Given the description of an element on the screen output the (x, y) to click on. 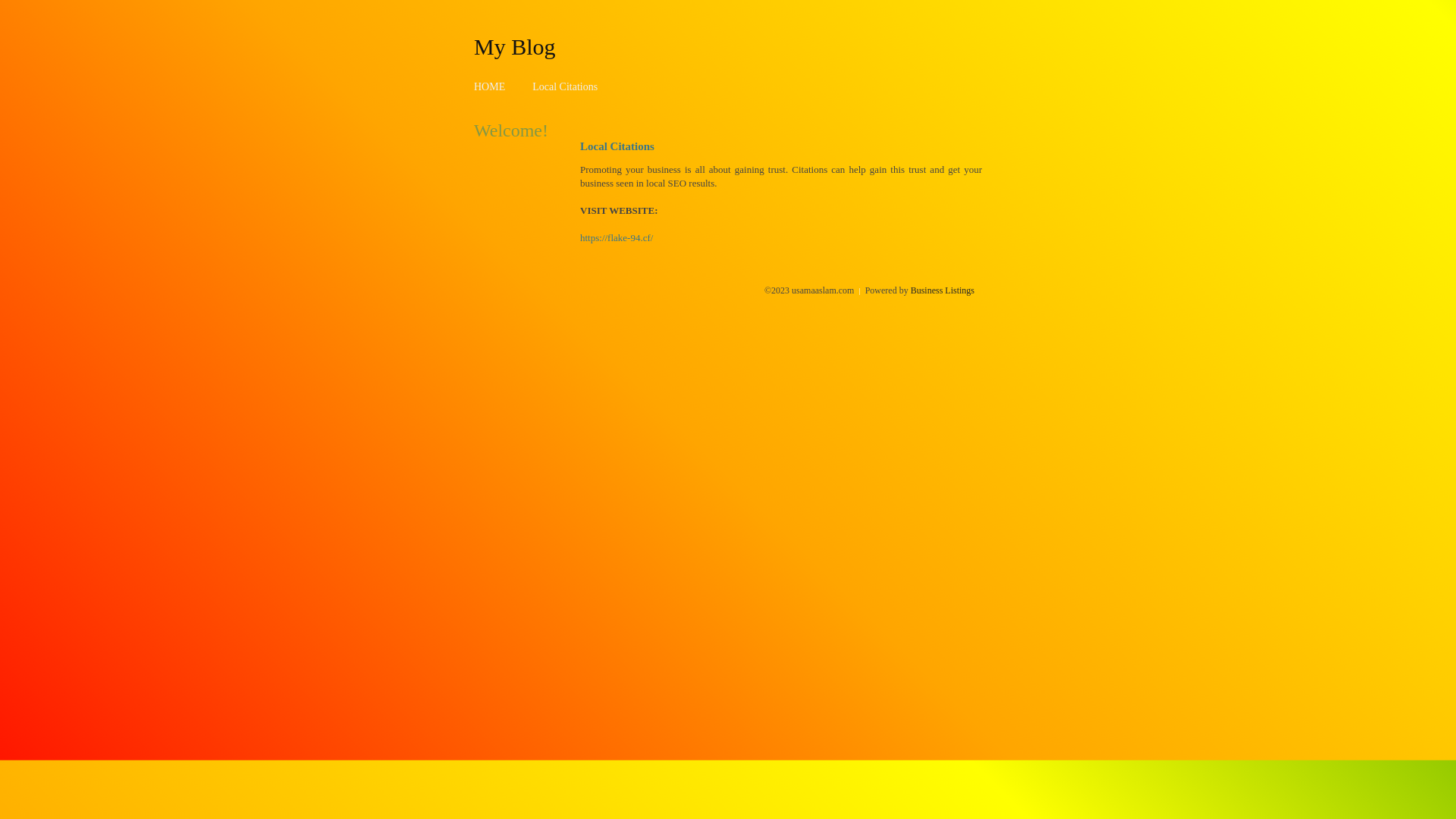
Local Citations Element type: text (564, 86)
Business Listings Element type: text (942, 290)
HOME Element type: text (489, 86)
https://flake-94.cf/ Element type: text (616, 237)
My Blog Element type: text (514, 46)
